Given the description of an element on the screen output the (x, y) to click on. 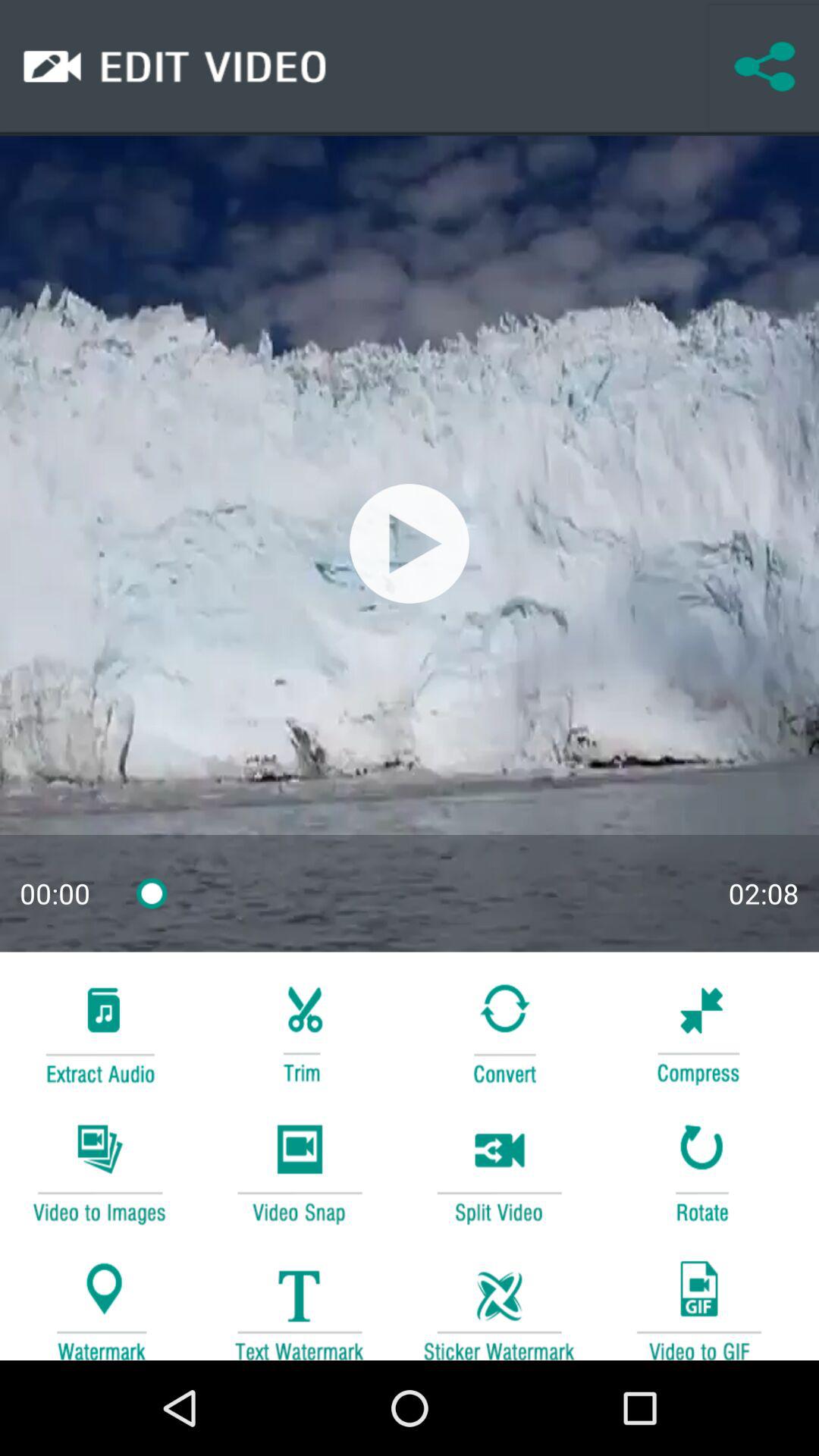
location button (99, 1303)
